Given the description of an element on the screen output the (x, y) to click on. 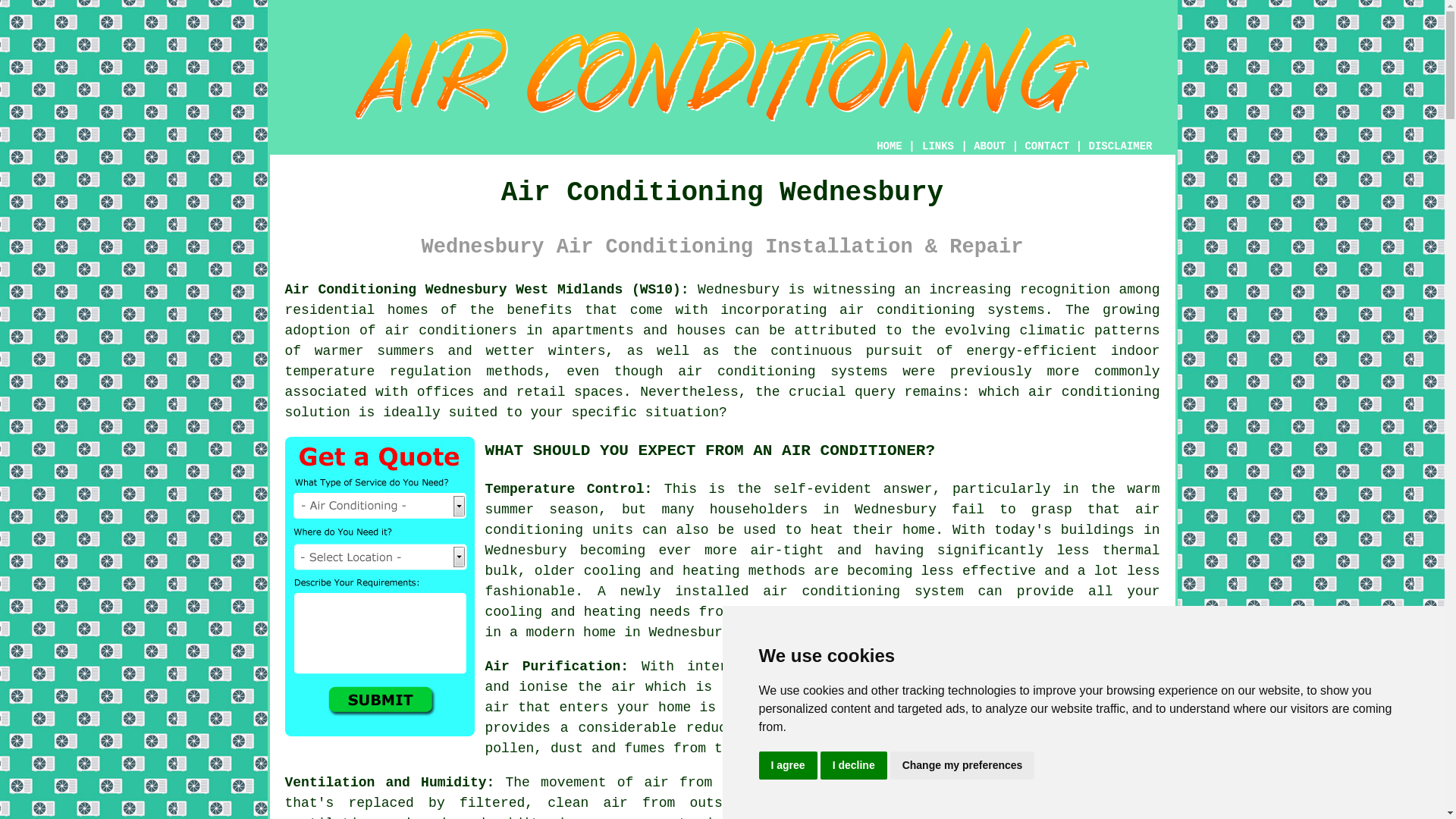
installed air conditioning system (818, 590)
Change my preferences (962, 765)
I agree (787, 765)
LINKS (938, 146)
HOME (889, 146)
I decline (853, 765)
air conditioning solution (722, 402)
Air Conditioning Wednesbury (722, 74)
